Given the description of an element on the screen output the (x, y) to click on. 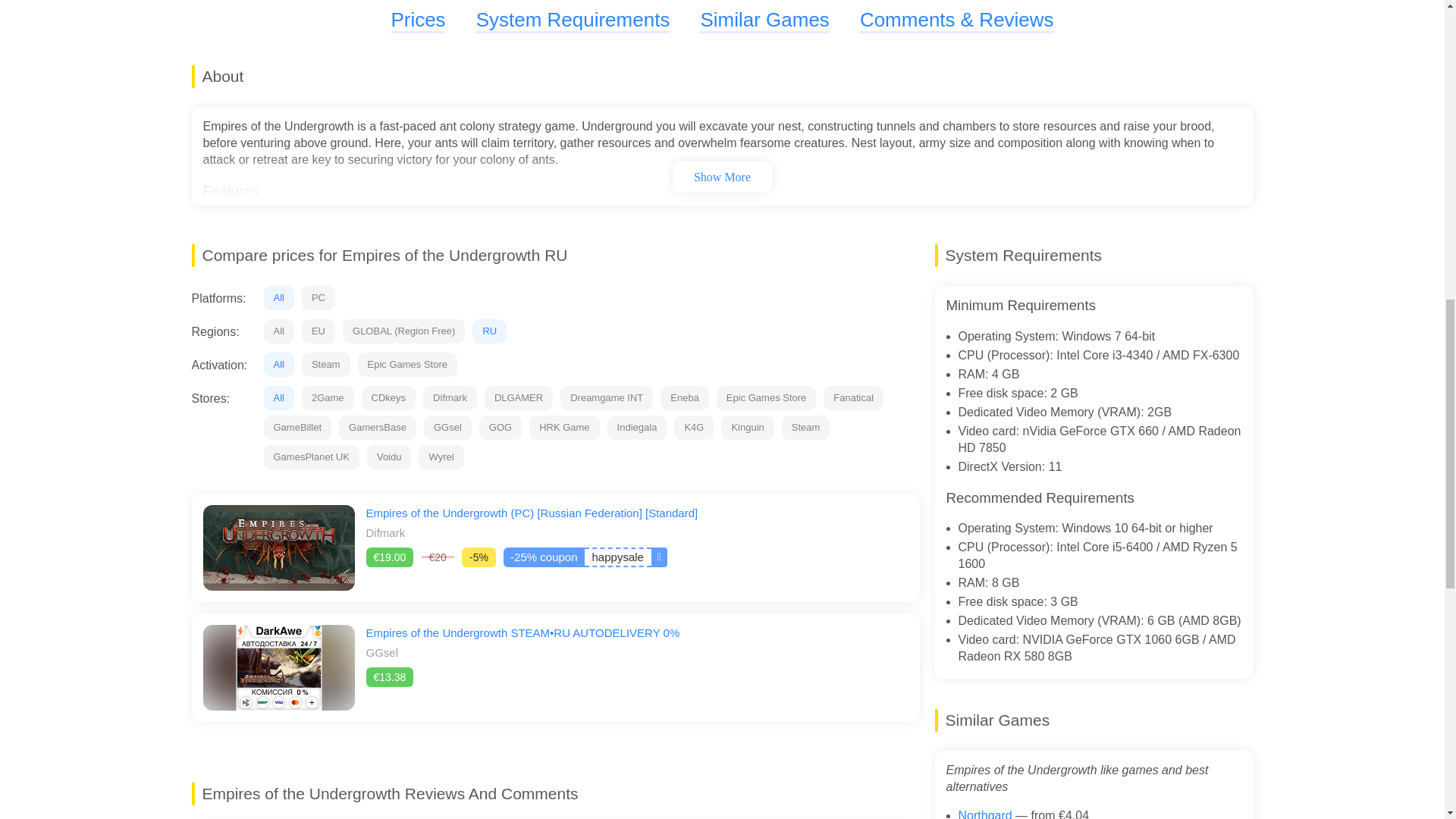
All (278, 364)
Epic Games Store (766, 397)
System Requirements (572, 20)
2Game (327, 397)
Epic Games Store (408, 364)
All (278, 331)
Steam (325, 364)
All (278, 297)
Dreamgame INT (606, 397)
RU (488, 331)
Eneba (685, 397)
DLGAMER (518, 397)
CDkeys (388, 397)
Difmark (450, 397)
Similar Games (764, 20)
